Given the description of an element on the screen output the (x, y) to click on. 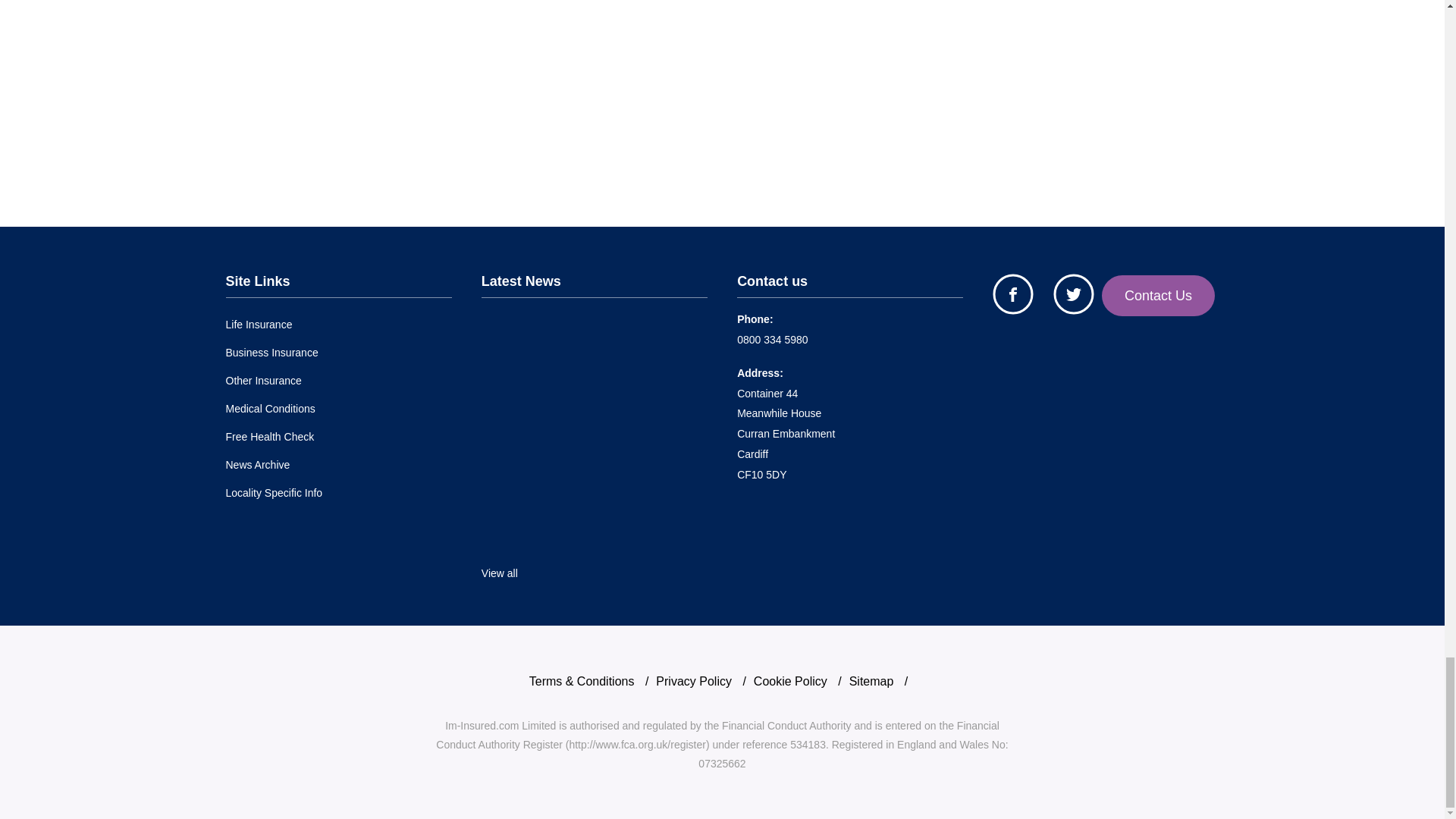
Life Insurance (258, 324)
